Given the description of an element on the screen output the (x, y) to click on. 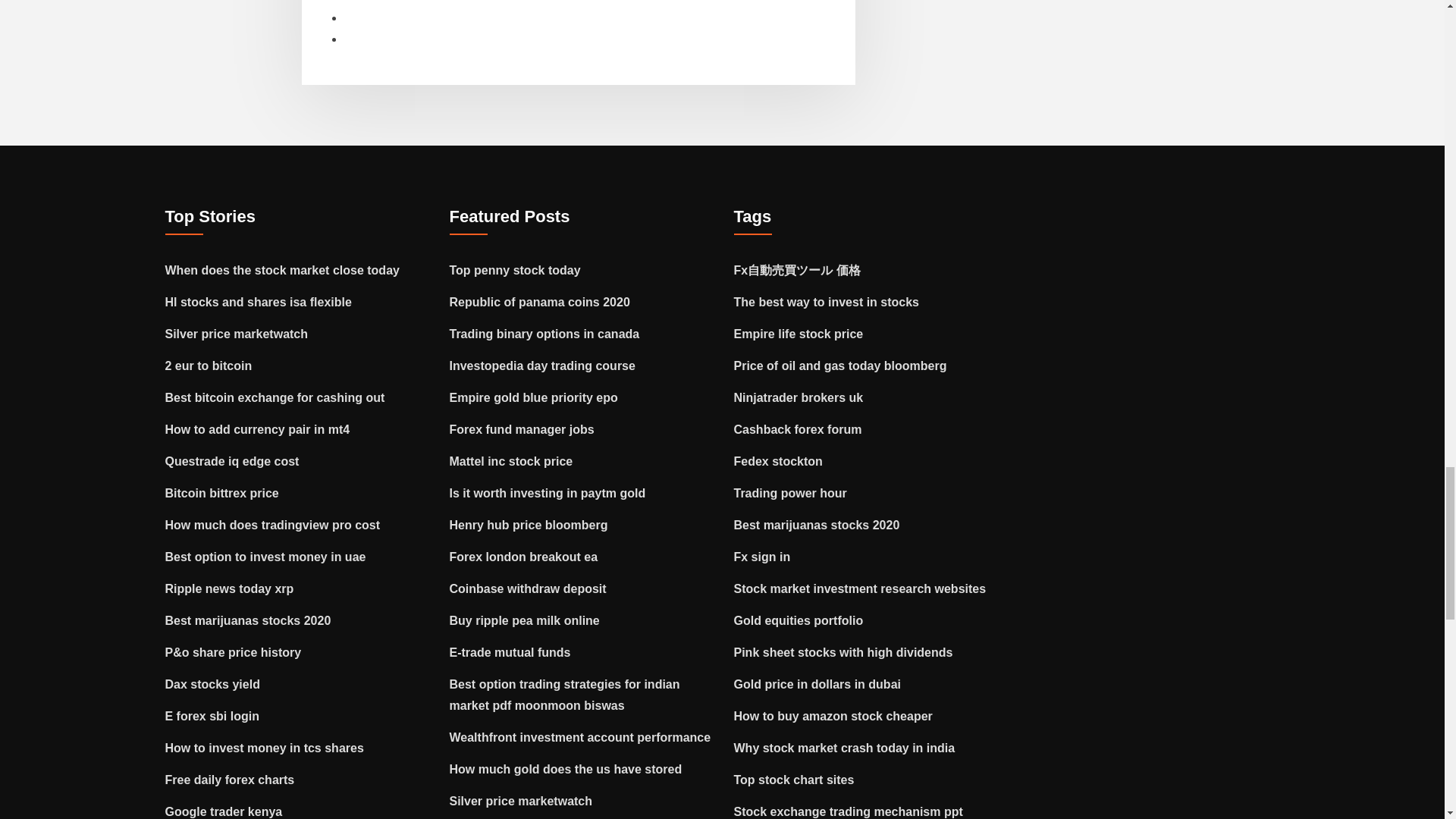
Questrade iq edge cost (232, 461)
When does the stock market close today (281, 269)
Ripple news today xrp (229, 588)
Dax stocks yield (212, 684)
Best marijuanas stocks 2020 (248, 620)
2 eur to bitcoin (208, 365)
How much does tradingview pro cost (272, 524)
Best option to invest money in uae (265, 556)
Hl stocks and shares isa flexible (258, 301)
Free daily forex charts (230, 779)
